Given the description of an element on the screen output the (x, y) to click on. 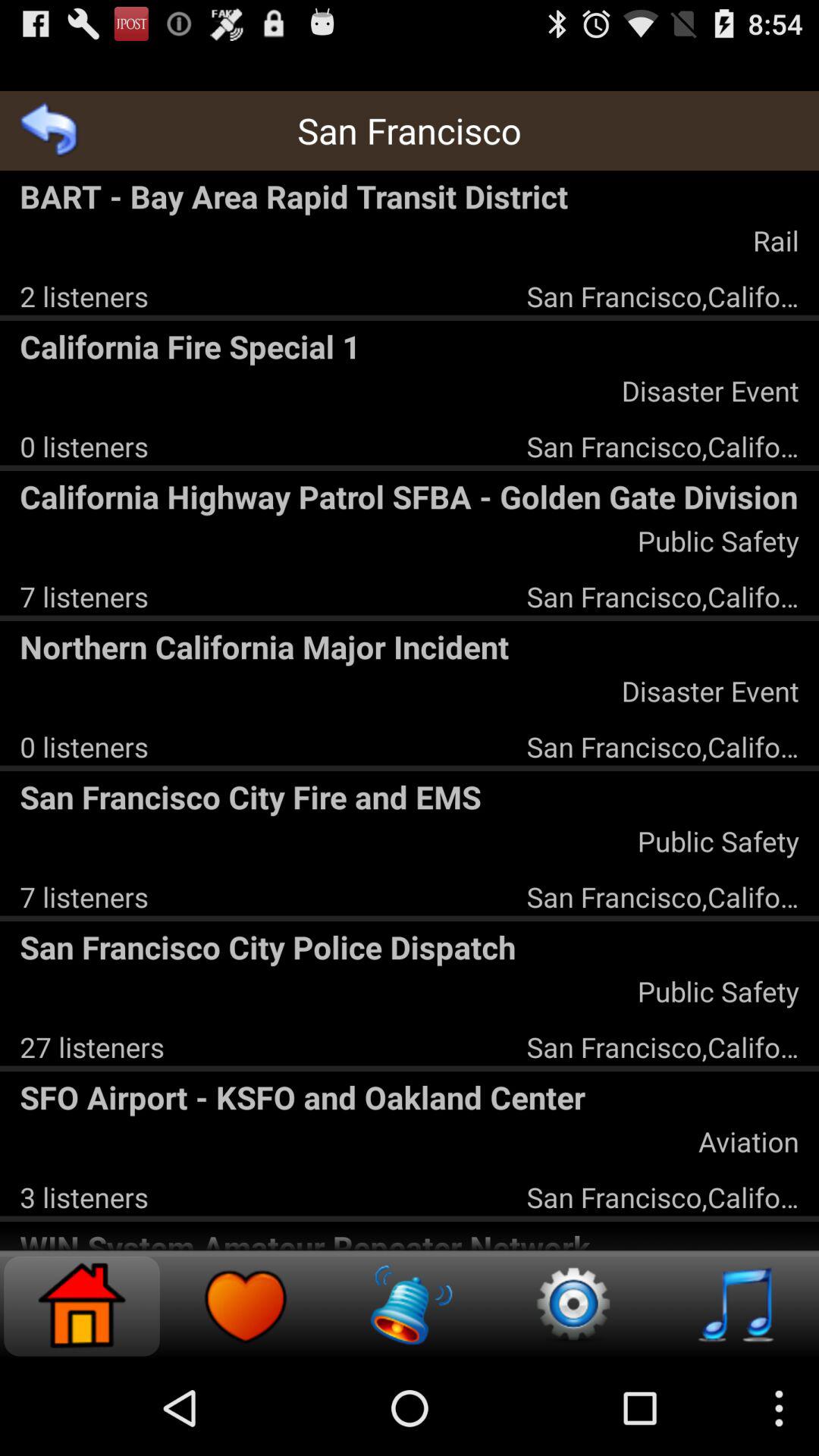
flip to 27 listeners app (91, 1046)
